Given the description of an element on the screen output the (x, y) to click on. 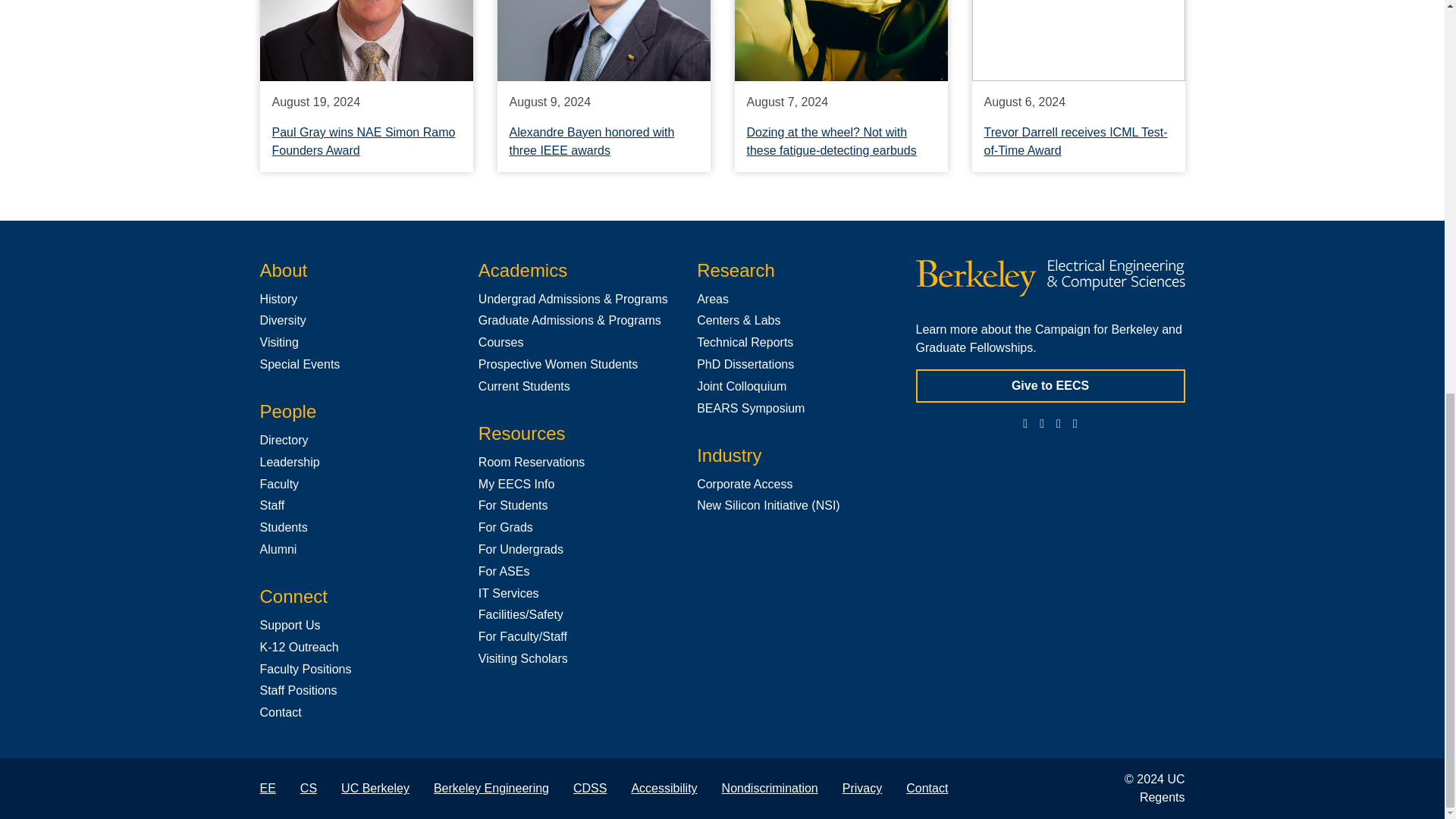
Special Events (299, 364)
Visiting (278, 341)
Alexandre Bayen honored with three IEEE awards (592, 141)
About (283, 270)
Diversity (282, 319)
History (278, 298)
Directory (283, 440)
Leadership (288, 461)
Trevor Darrell receives ICML Test-of-Time Award (1075, 141)
